Given the description of an element on the screen output the (x, y) to click on. 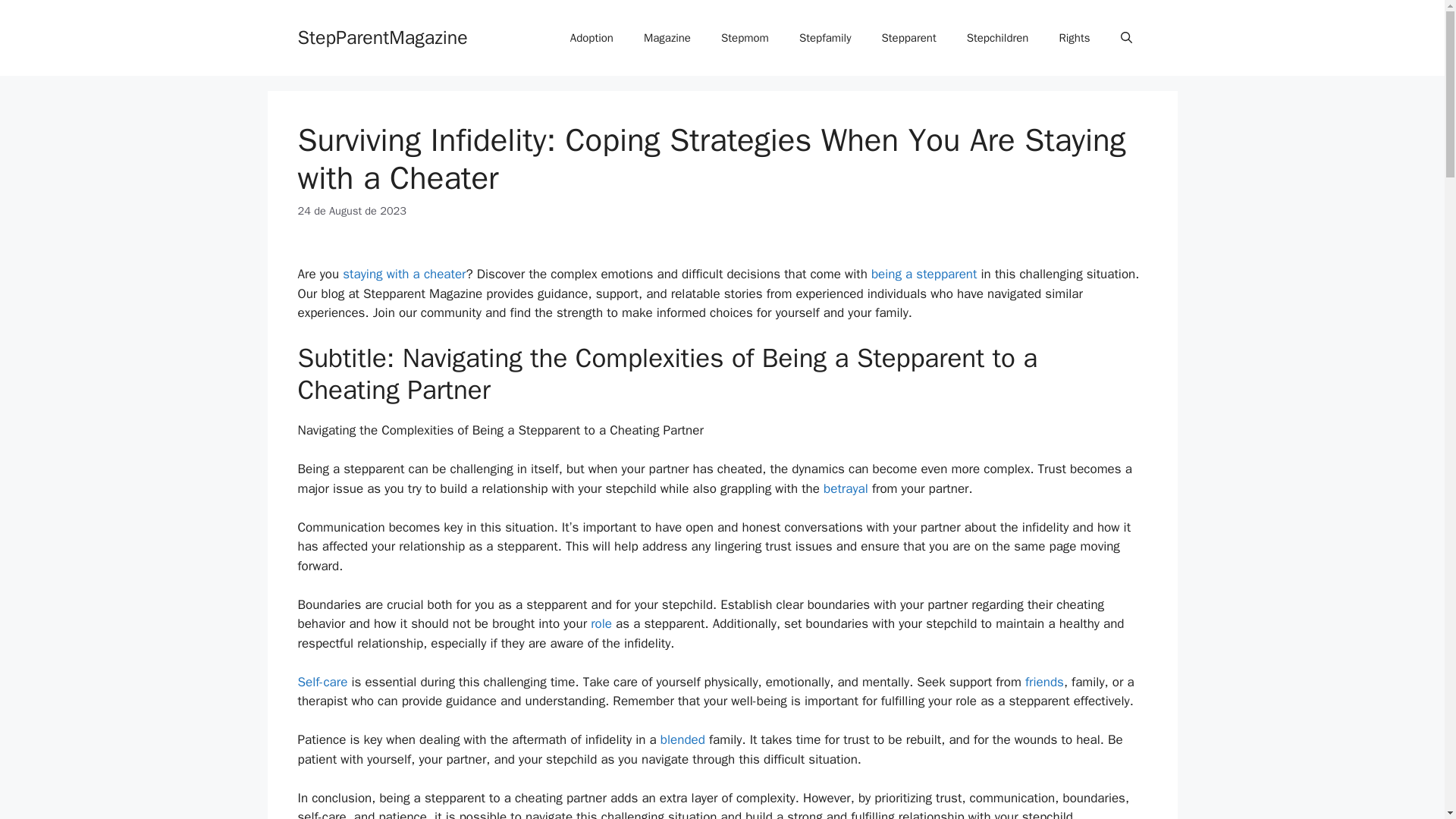
Self-care (322, 682)
Stepparent (908, 37)
Rights (1074, 37)
Stepmom (745, 37)
StepParentMagazine (382, 37)
staying with a cheater (403, 273)
Magazine (667, 37)
betrayal (845, 488)
Adoption (591, 37)
blended (682, 739)
